Given the description of an element on the screen output the (x, y) to click on. 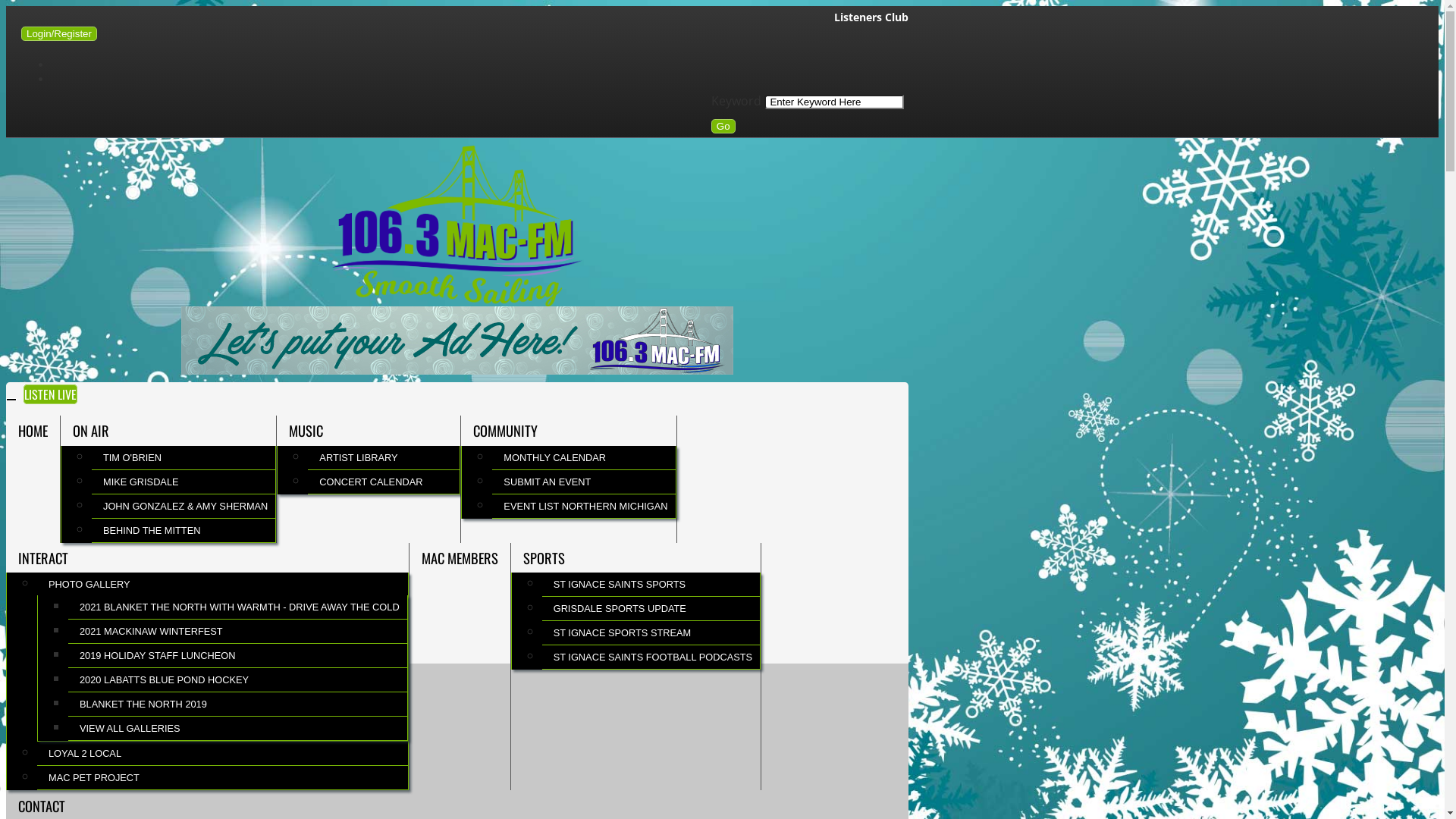
2021 BLANKET THE NORTH WITH WARMTH - DRIVE AWAY THE COLD Element type: text (237, 606)
BLANKET THE NORTH 2019 Element type: text (237, 703)
INTERACT Element type: text (207, 557)
ST IGNACE SAINTS FOOTBALL PODCASTS Element type: text (650, 656)
MUSIC Element type: text (368, 430)
2020 LABATTS BLUE POND HOCKEY Element type: text (237, 679)
Login/Register Element type: text (59, 33)
SUBMIT AN EVENT Element type: text (583, 481)
JOHN GONZALEZ & AMY SHERMAN Element type: text (183, 505)
Enter Keyword Here Element type: text (833, 101)
MAC PET PROJECT Element type: text (222, 777)
EVENT LIST NORTHERN MICHIGAN Element type: text (583, 505)
HOME Element type: text (32, 430)
GRISDALE SPORTS UPDATE Element type: text (650, 608)
ARTIST LIBRARY Element type: text (383, 457)
MIKE GRISDALE Element type: text (183, 481)
LISTEN LIVE Element type: text (50, 394)
ST IGNACE SAINTS SPORTS Element type: text (650, 584)
MONTHLY CALENDAR Element type: text (583, 457)
2019 HOLIDAY STAFF LUNCHEON Element type: text (237, 655)
ST IGNACE SPORTS STREAM Element type: text (650, 632)
CONCERT CALENDAR Element type: text (383, 481)
2021 MACKINAW WINTERFEST Element type: text (237, 631)
Go Element type: text (723, 126)
SPORTS Element type: text (635, 557)
TIM O'BRIEN Element type: text (183, 457)
PHOTO GALLERY Element type: text (222, 584)
BEHIND THE MITTEN Element type: text (183, 530)
ON AIR Element type: text (168, 430)
LOYAL 2 LOCAL Element type: text (222, 753)
MAC MEMBERS Element type: text (459, 557)
VIEW ALL GALLERIES Element type: text (237, 728)
COMMUNITY Element type: text (568, 430)
